Given the description of an element on the screen output the (x, y) to click on. 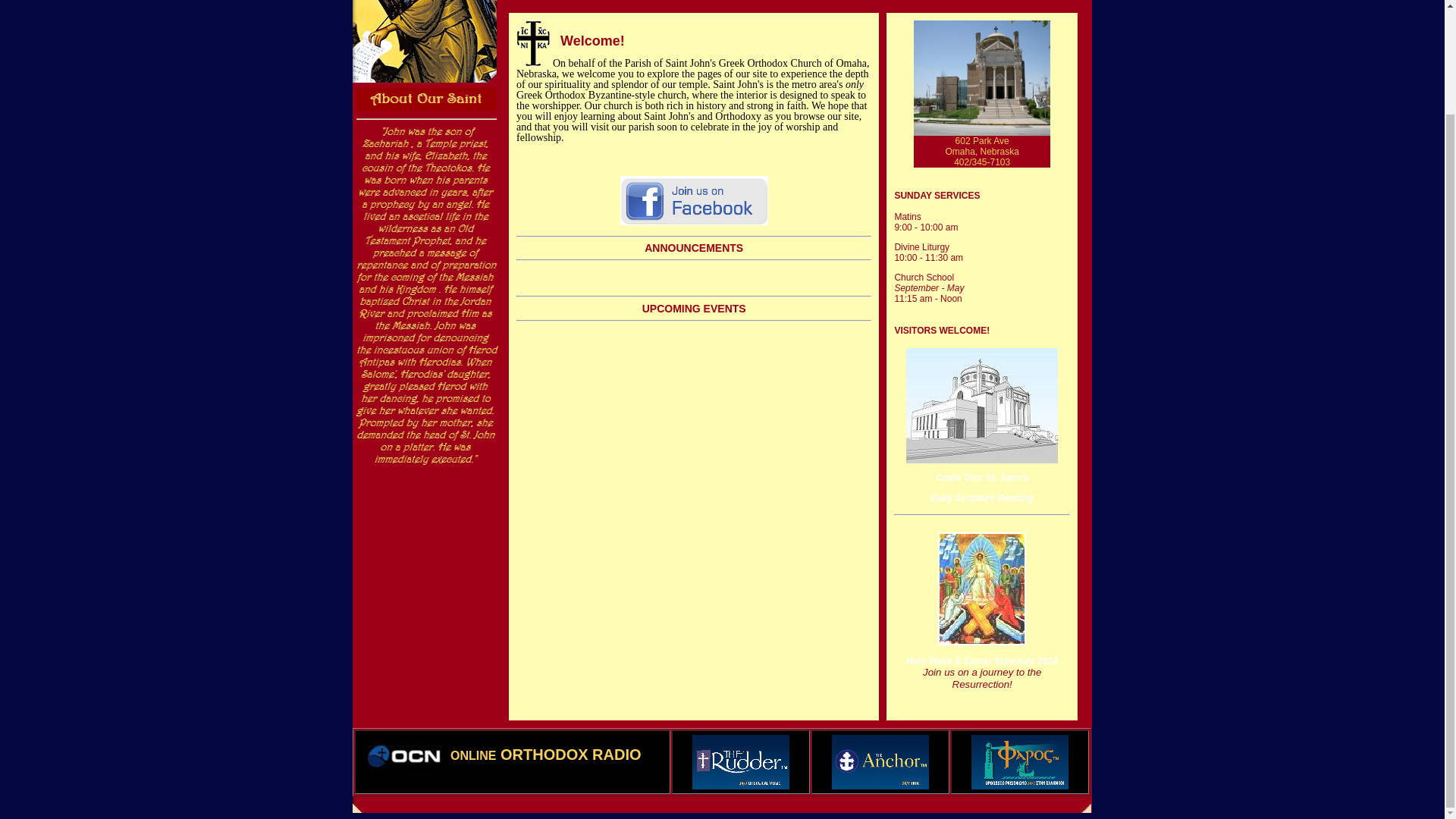
Daily Scripture Reading (982, 498)
Come Tour St. John's (981, 469)
